Given the description of an element on the screen output the (x, y) to click on. 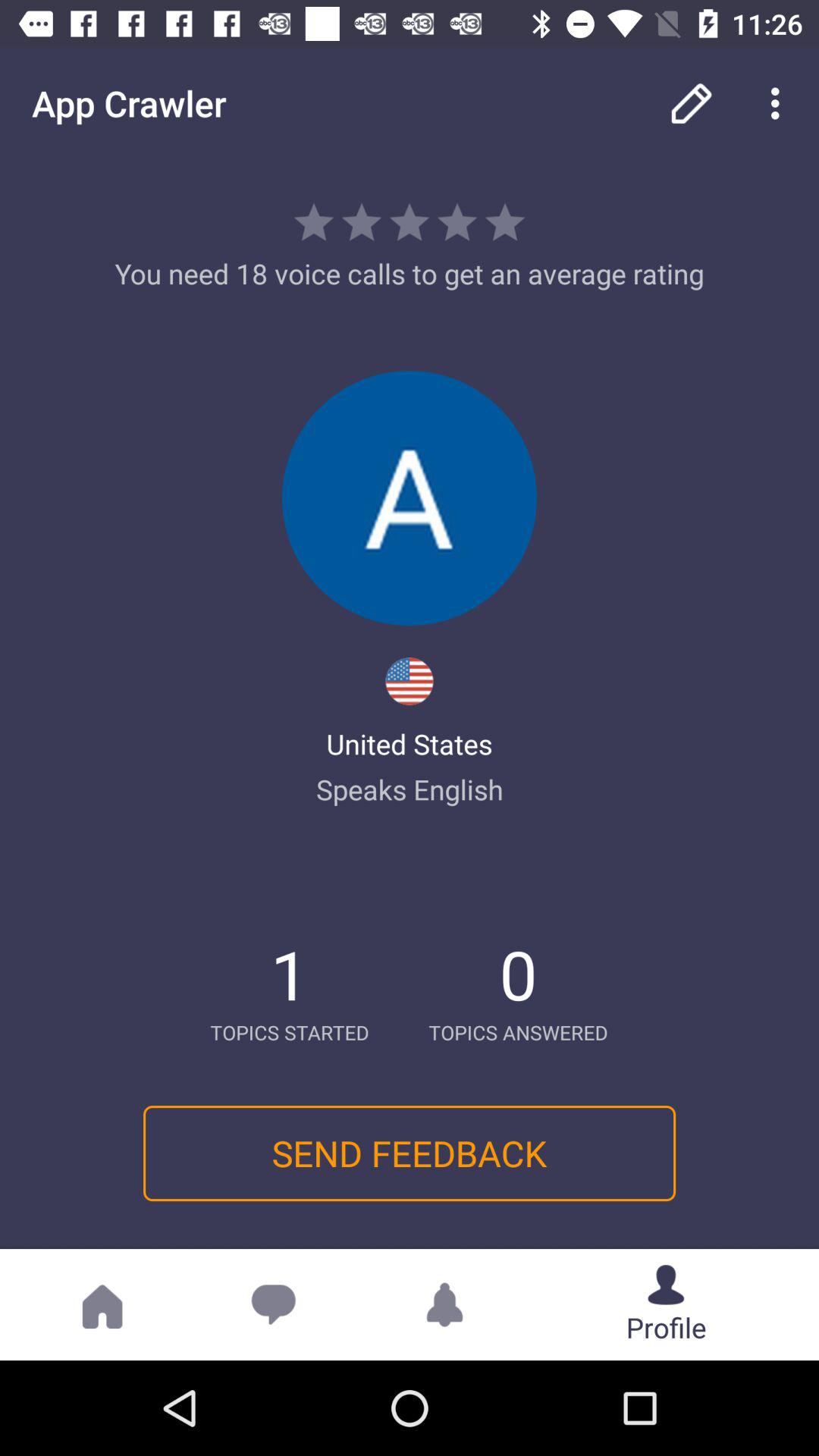
flip to the send feedback icon (409, 1153)
